Given the description of an element on the screen output the (x, y) to click on. 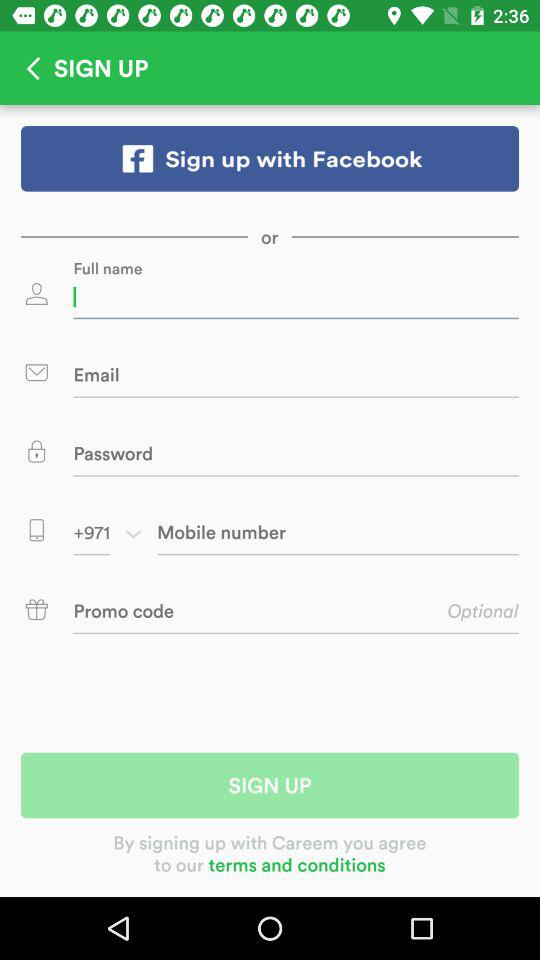
go back (27, 68)
